Given the description of an element on the screen output the (x, y) to click on. 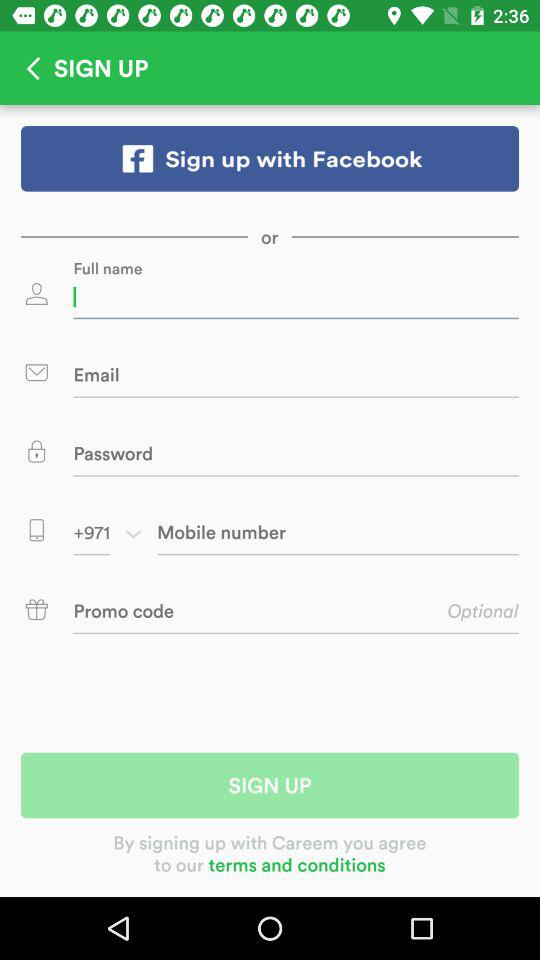
go back (27, 68)
